Given the description of an element on the screen output the (x, y) to click on. 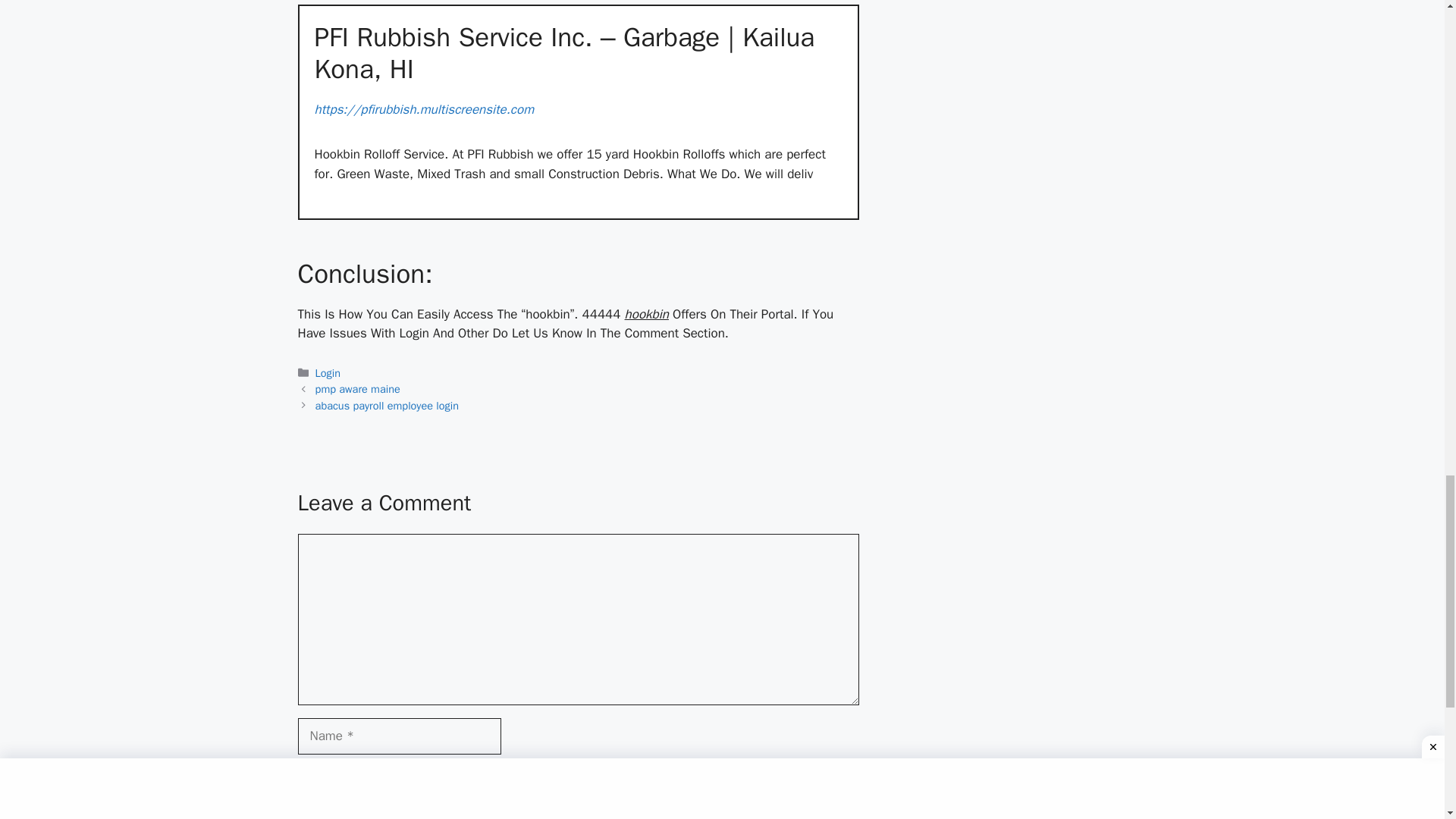
pmp aware maine (357, 388)
Login (327, 373)
abacus payroll employee login (386, 405)
